Given the description of an element on the screen output the (x, y) to click on. 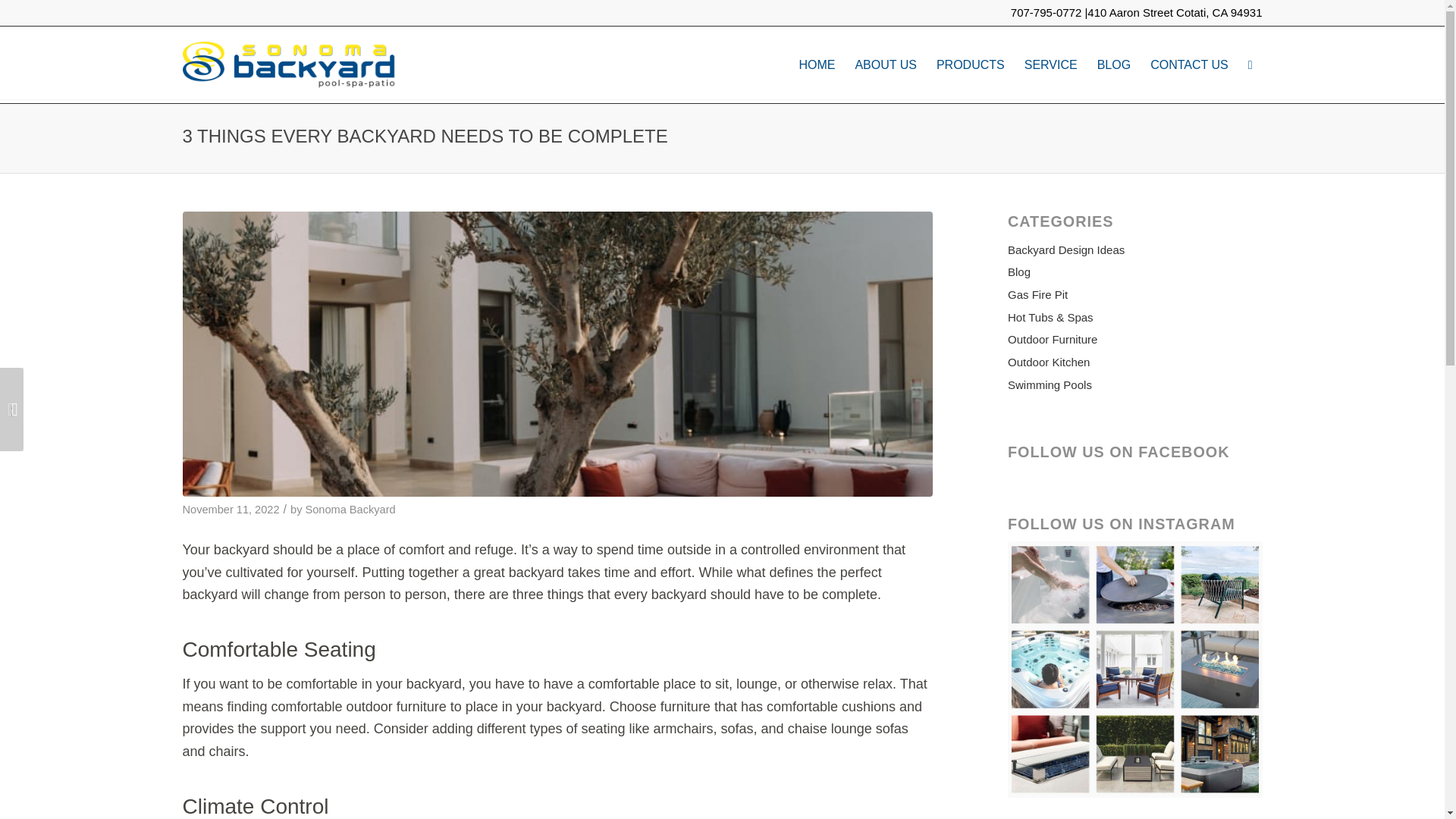
3 THINGS EVERY BACKYARD NEEDS TO BE COMPLETE (424, 136)
Permanent Link: 3 Things Every Backyard Needs to Be Complete (424, 136)
FOLLOW US ON INSTAGRAM (1134, 669)
CONTACT US (1189, 64)
707-795-0772 (1045, 11)
Posts by Sonoma Backyard (349, 509)
Sonoma Backyard (349, 509)
SERVICE (1050, 64)
PRODUCTS (970, 64)
ABOUT US (885, 64)
